Given the description of an element on the screen output the (x, y) to click on. 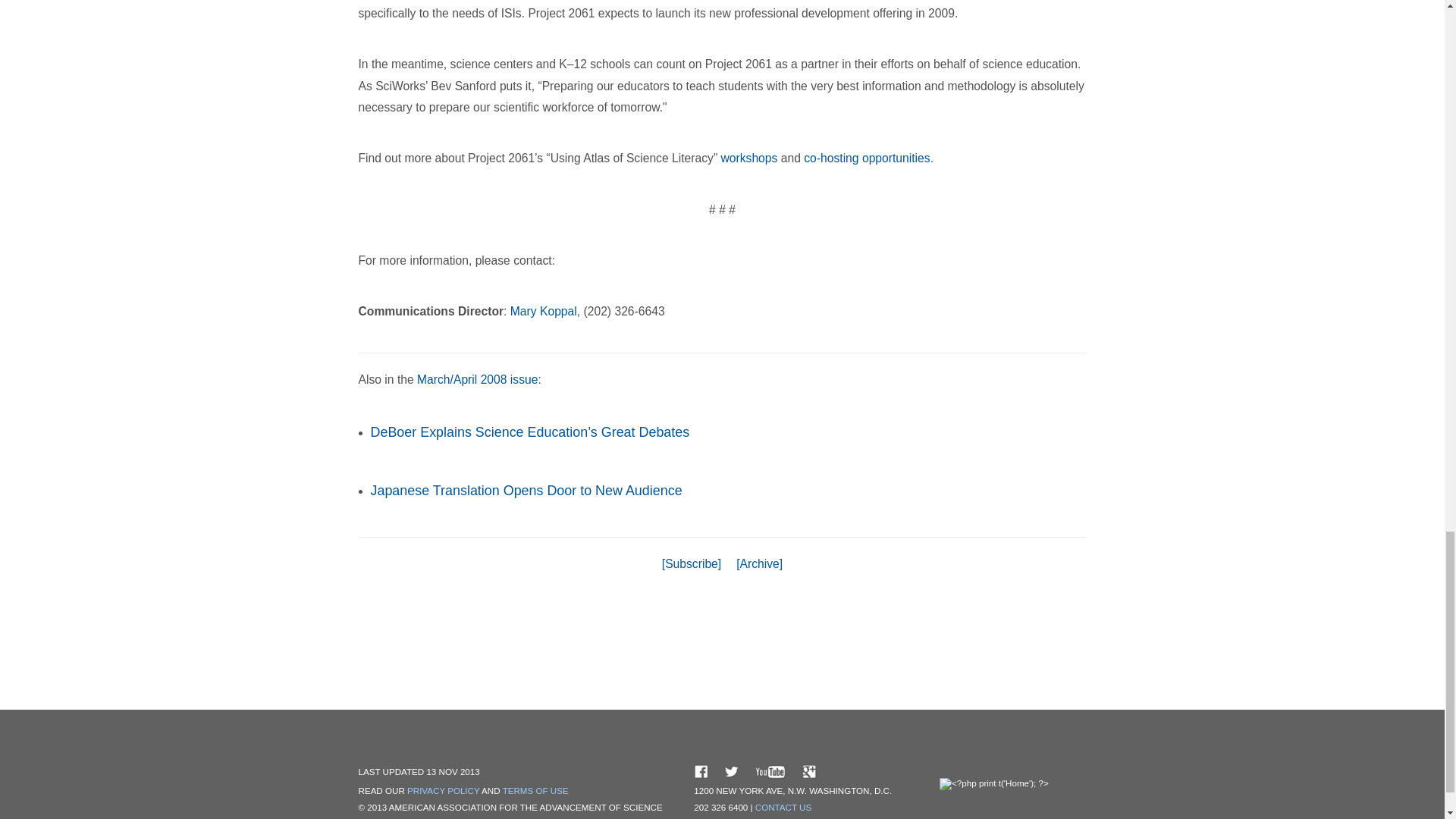
Mary Koppal (543, 310)
Connect with us on Twitter (731, 770)
co-hosting opportunities (866, 157)
Connect with us on Facebook (701, 770)
Terms of Use (535, 790)
Privacy Policy (443, 790)
workshops (748, 157)
Connect with us on YouTube (770, 770)
